Given the description of an element on the screen output the (x, y) to click on. 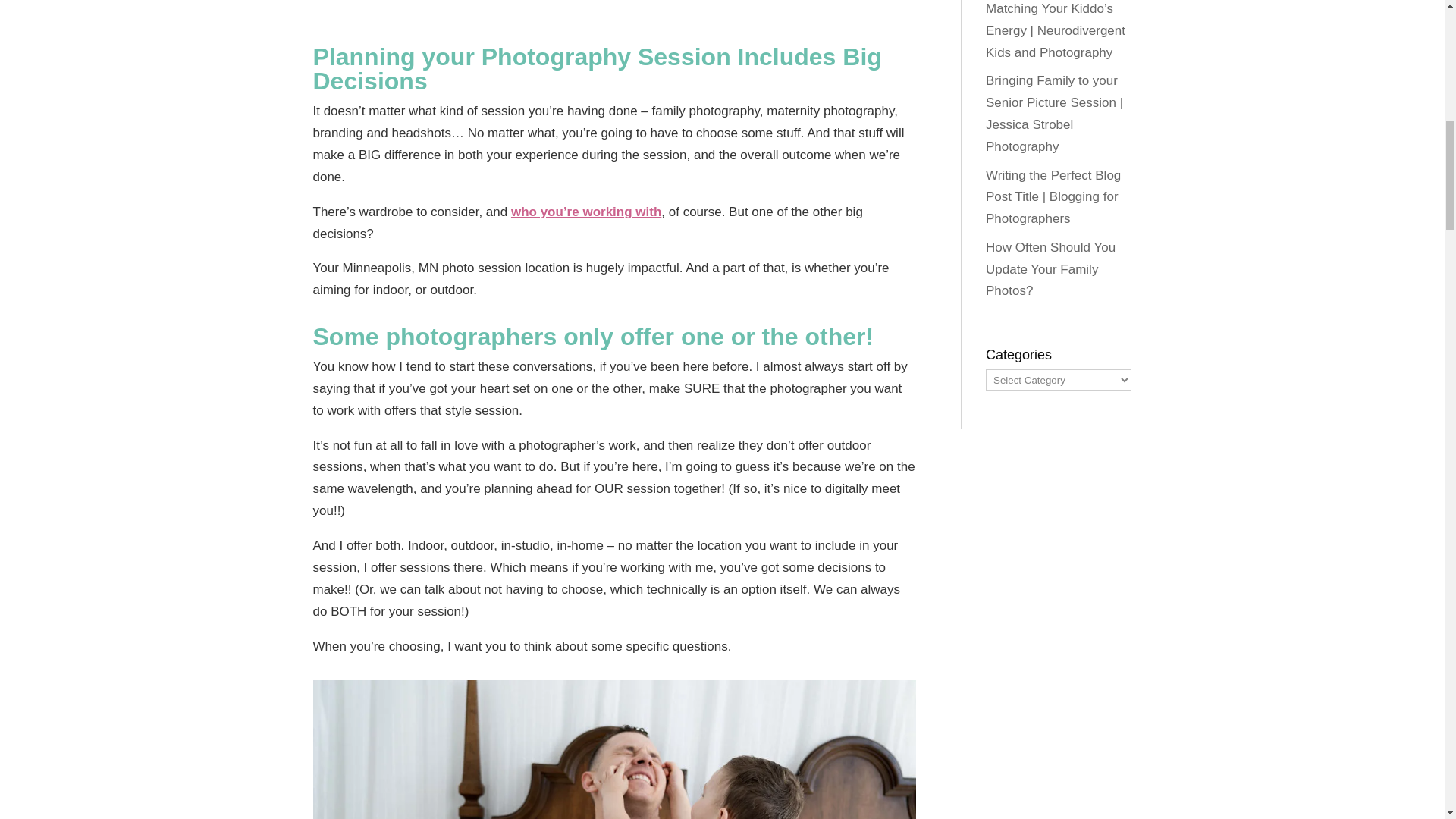
minneapolis midwives-2 (614, 749)
